Given the description of an element on the screen output the (x, y) to click on. 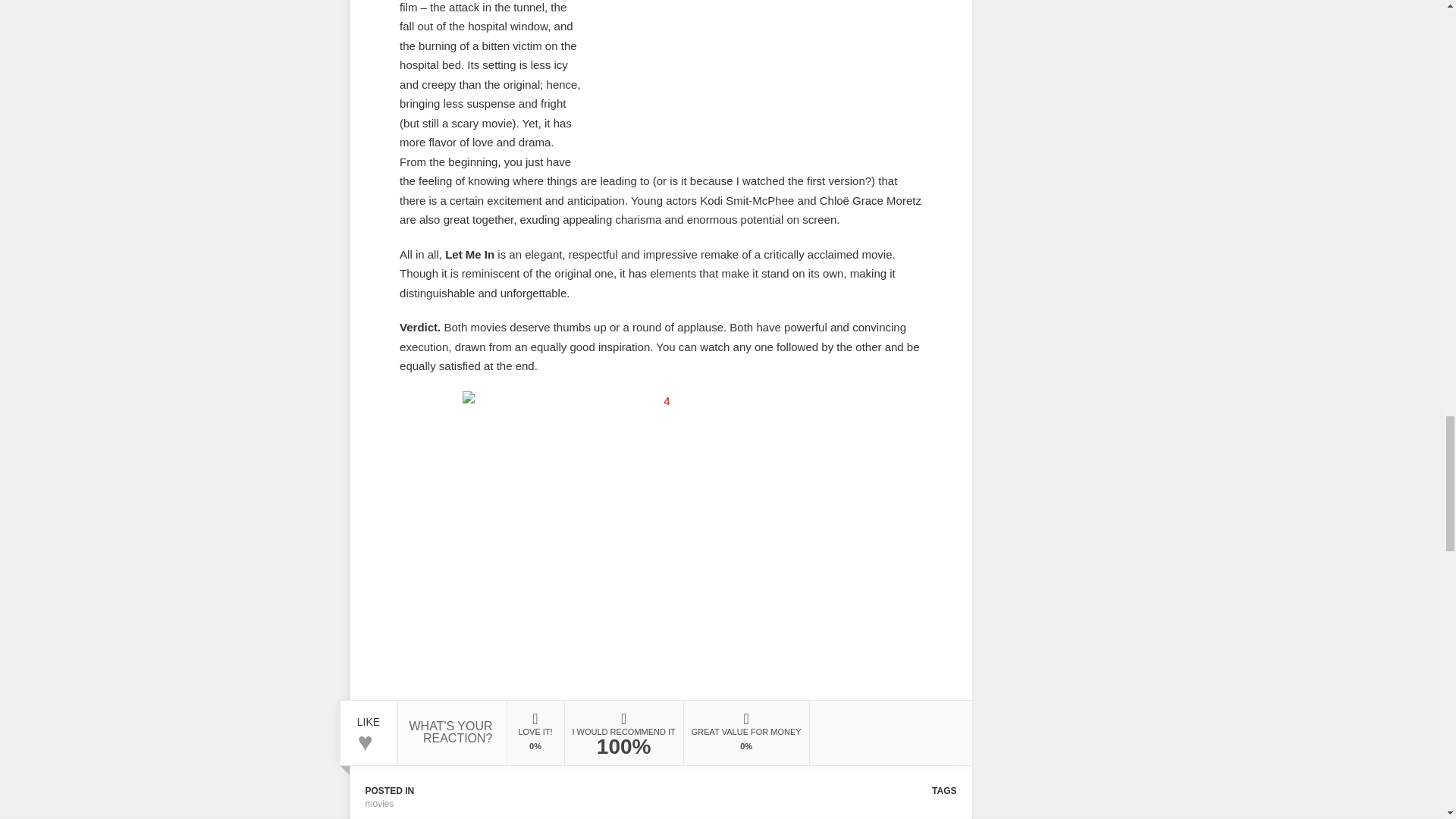
Likes (368, 715)
View all posts in movies (379, 803)
LIKE (368, 715)
movies (379, 803)
